Given the description of an element on the screen output the (x, y) to click on. 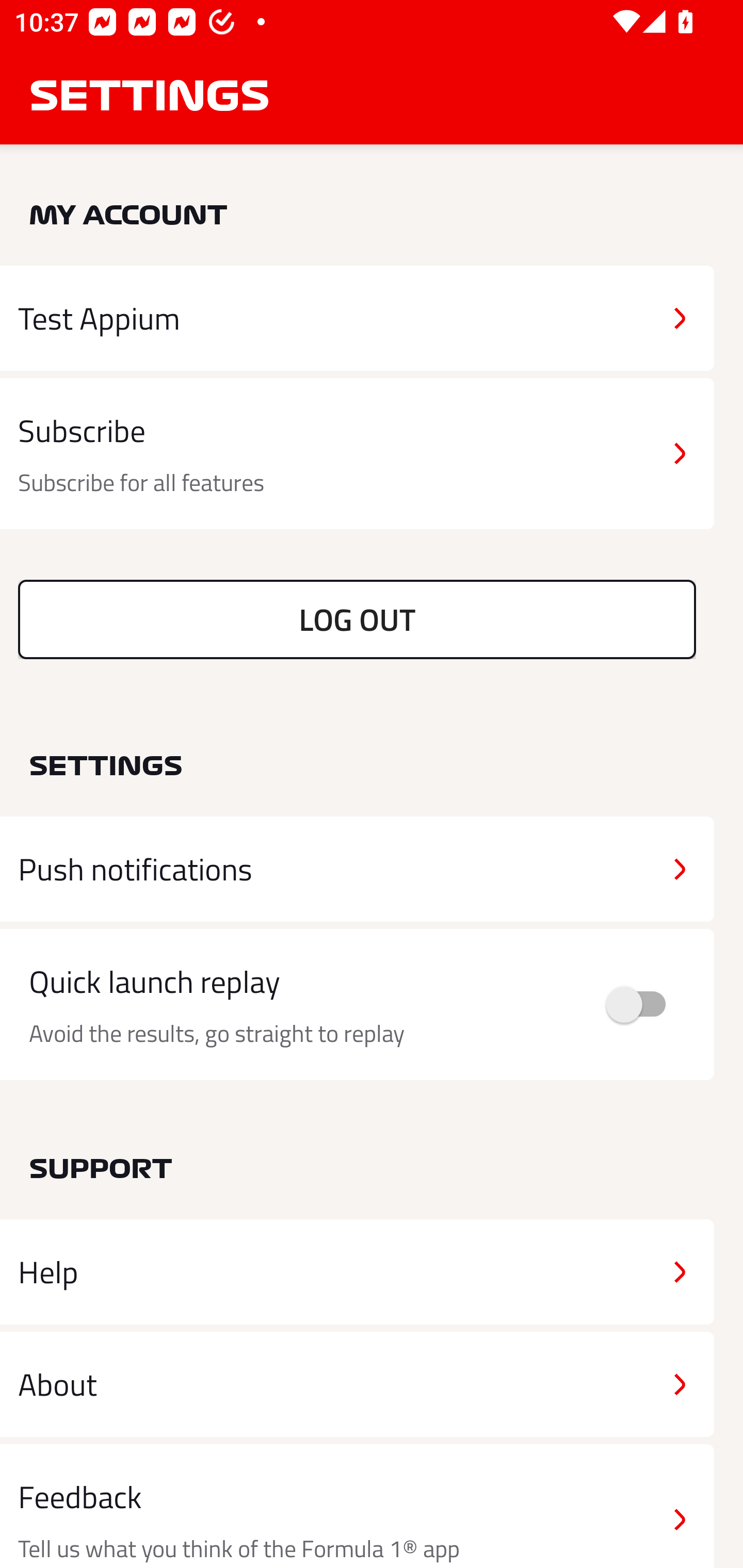
Test Appium (357, 317)
Subscribe Subscribe for all features (357, 453)
LOG OUT (356, 619)
Push notifications (357, 868)
Help (357, 1271)
About (357, 1383)
